Given the description of an element on the screen output the (x, y) to click on. 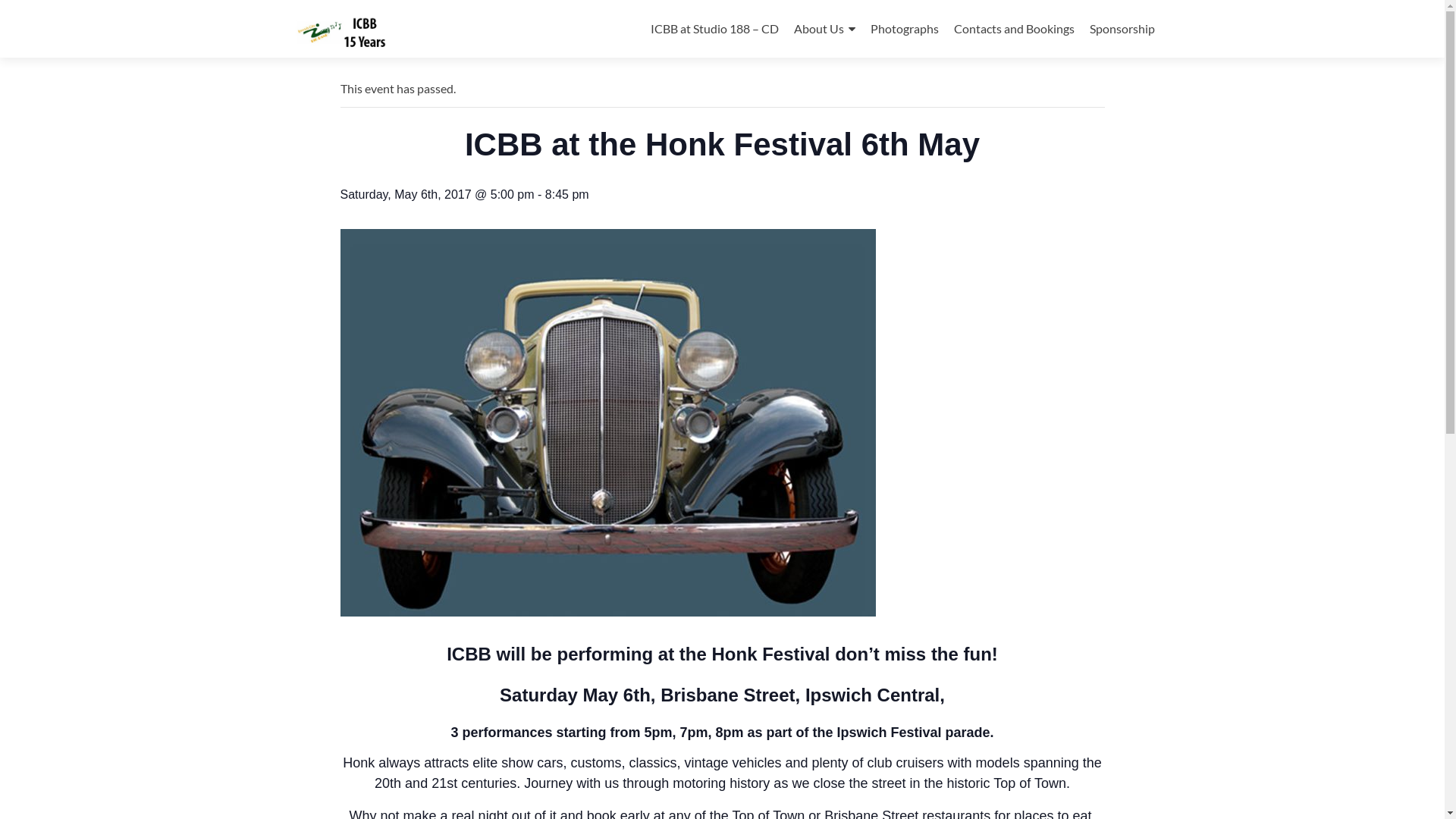
Contacts and Bookings Element type: text (1013, 28)
Sponsorship Element type: text (1121, 28)
About Us Element type: text (823, 28)
Photographs Element type: text (904, 28)
